Given the description of an element on the screen output the (x, y) to click on. 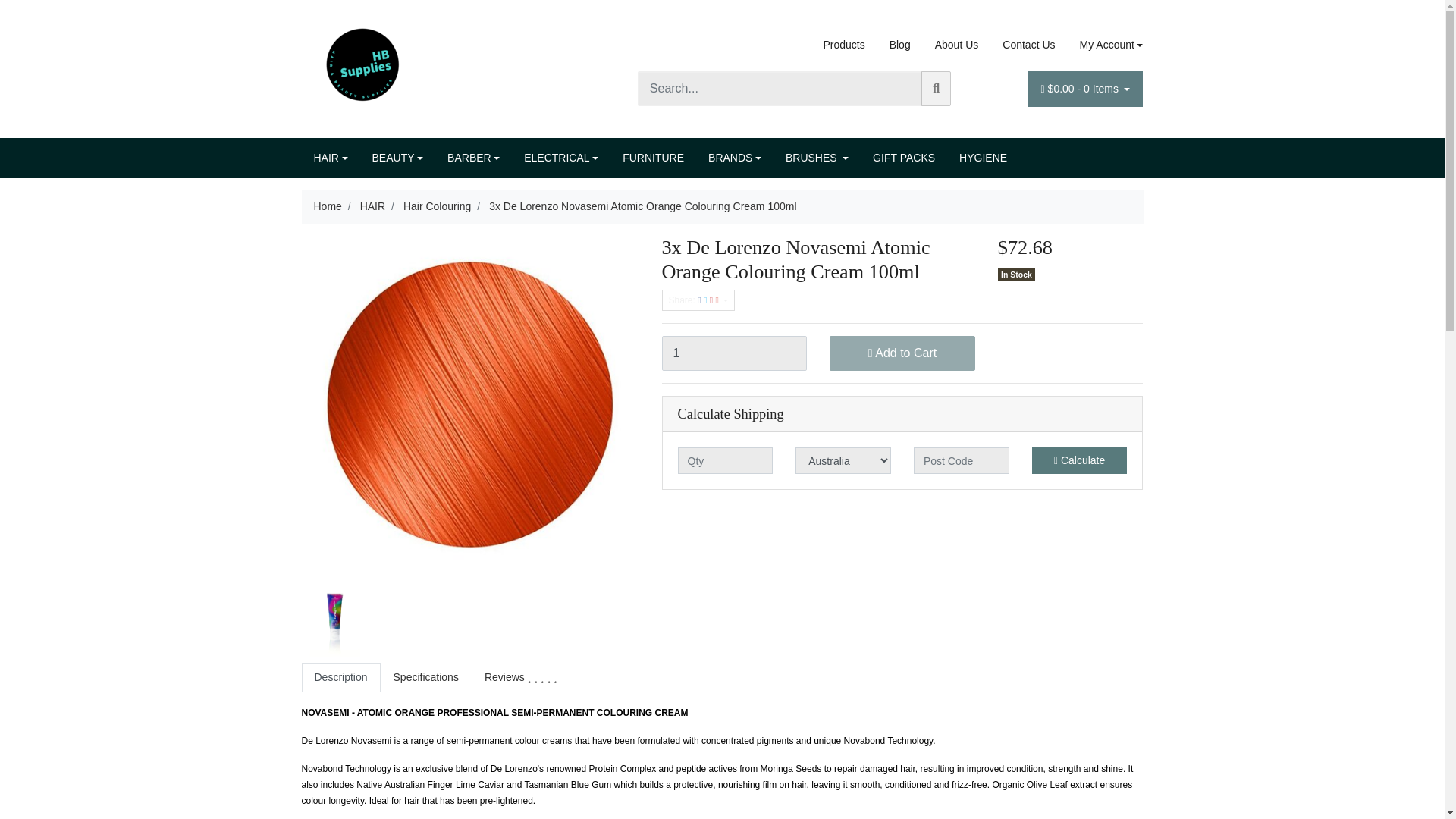
About Us (957, 44)
HAIR (330, 157)
Blog (900, 44)
1 (733, 353)
Products (843, 44)
Calculate (1079, 460)
My Account (1104, 44)
Contact Us (1028, 44)
